Given the description of an element on the screen output the (x, y) to click on. 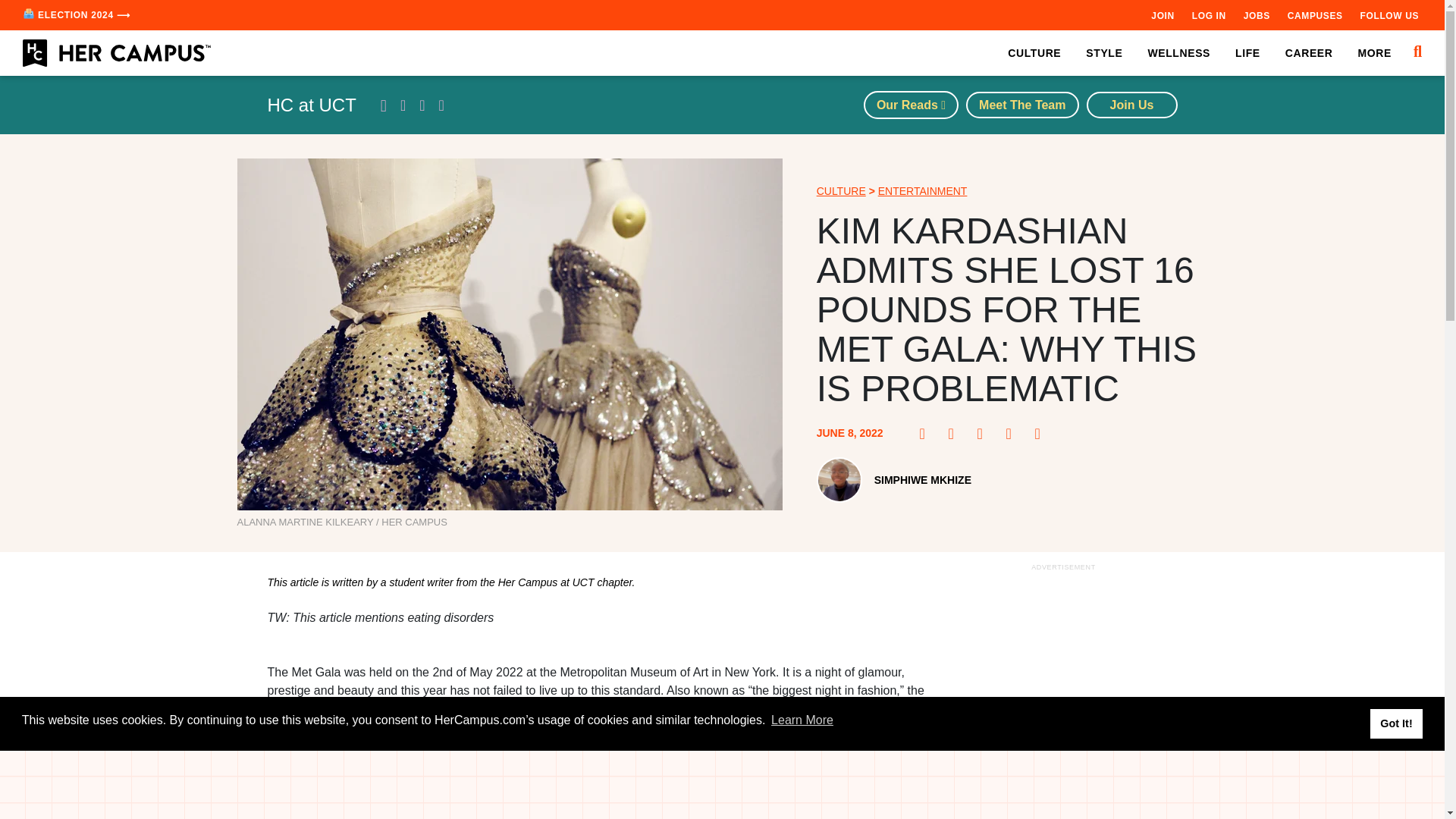
JOBS (1256, 15)
LOG IN (1208, 15)
JOIN (1162, 15)
Facebook (927, 433)
3rd party ad content (1062, 696)
3rd party ad content (597, 814)
Pinterest (956, 433)
CAMPUSES (1314, 15)
Got It! (1396, 723)
3rd party ad content (722, 785)
Twitter (984, 433)
Email (1042, 433)
LinkedIn (1014, 433)
